Given the description of an element on the screen output the (x, y) to click on. 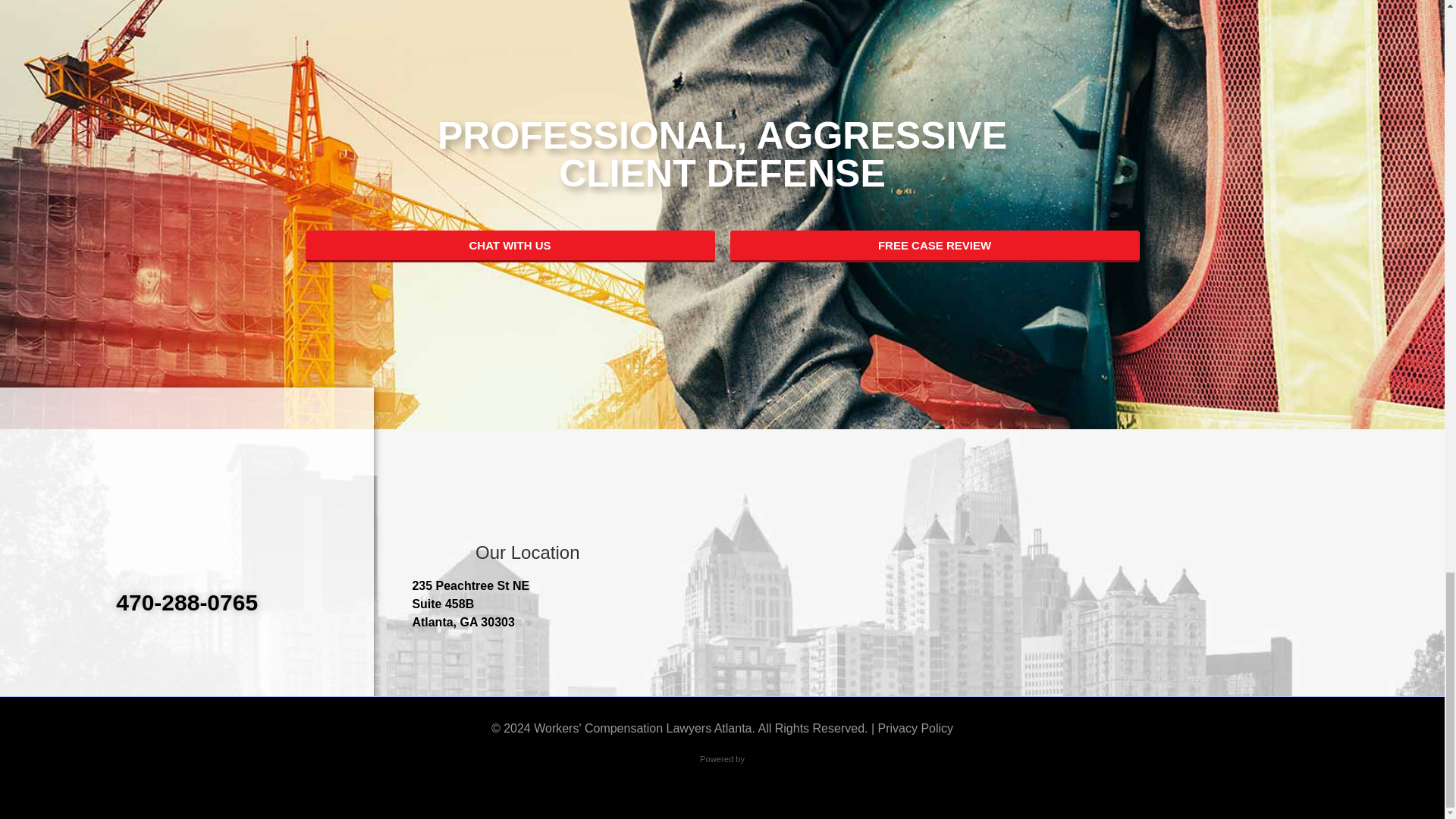
Office Location (975, 565)
